Given the description of an element on the screen output the (x, y) to click on. 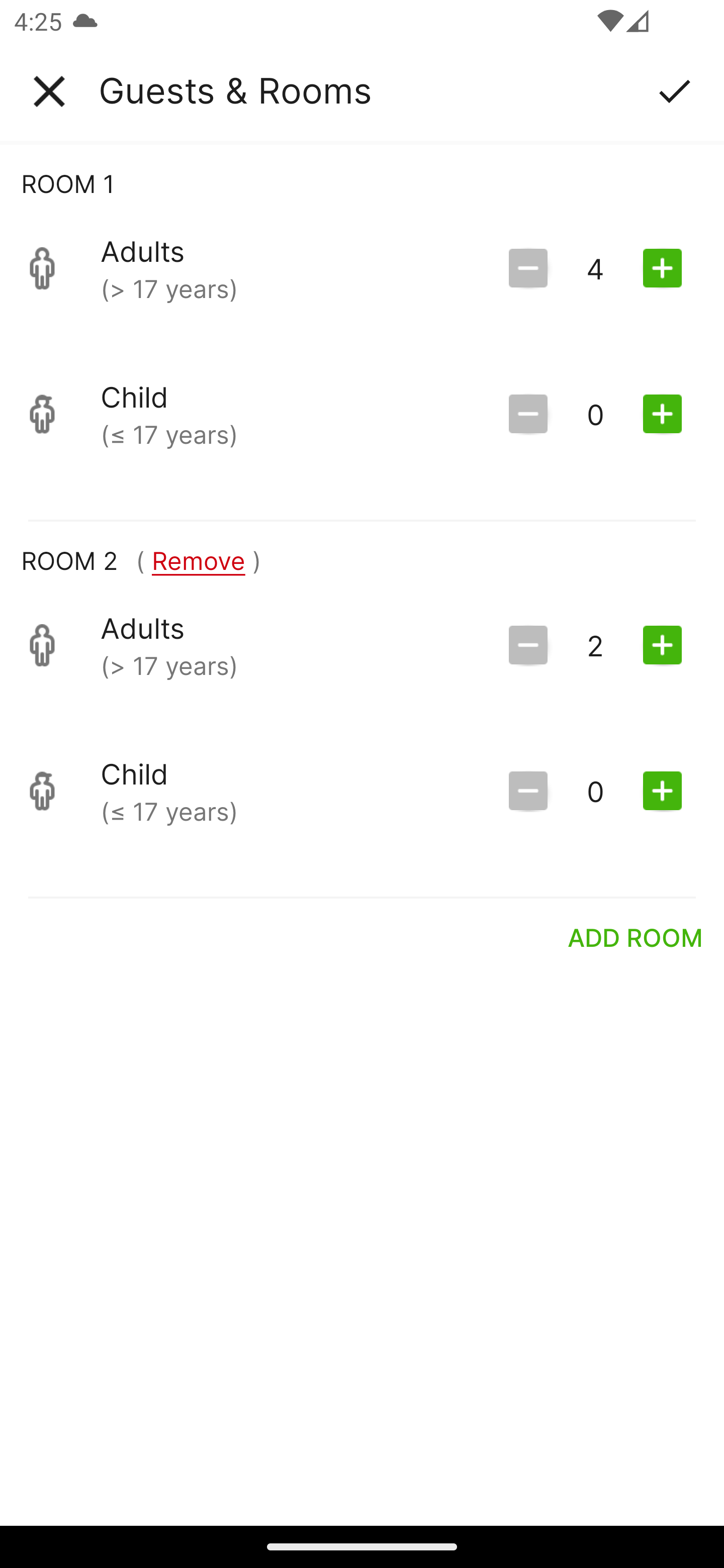
( Remove ) (198, 560)
ADD ROOM (635, 936)
